Given the description of an element on the screen output the (x, y) to click on. 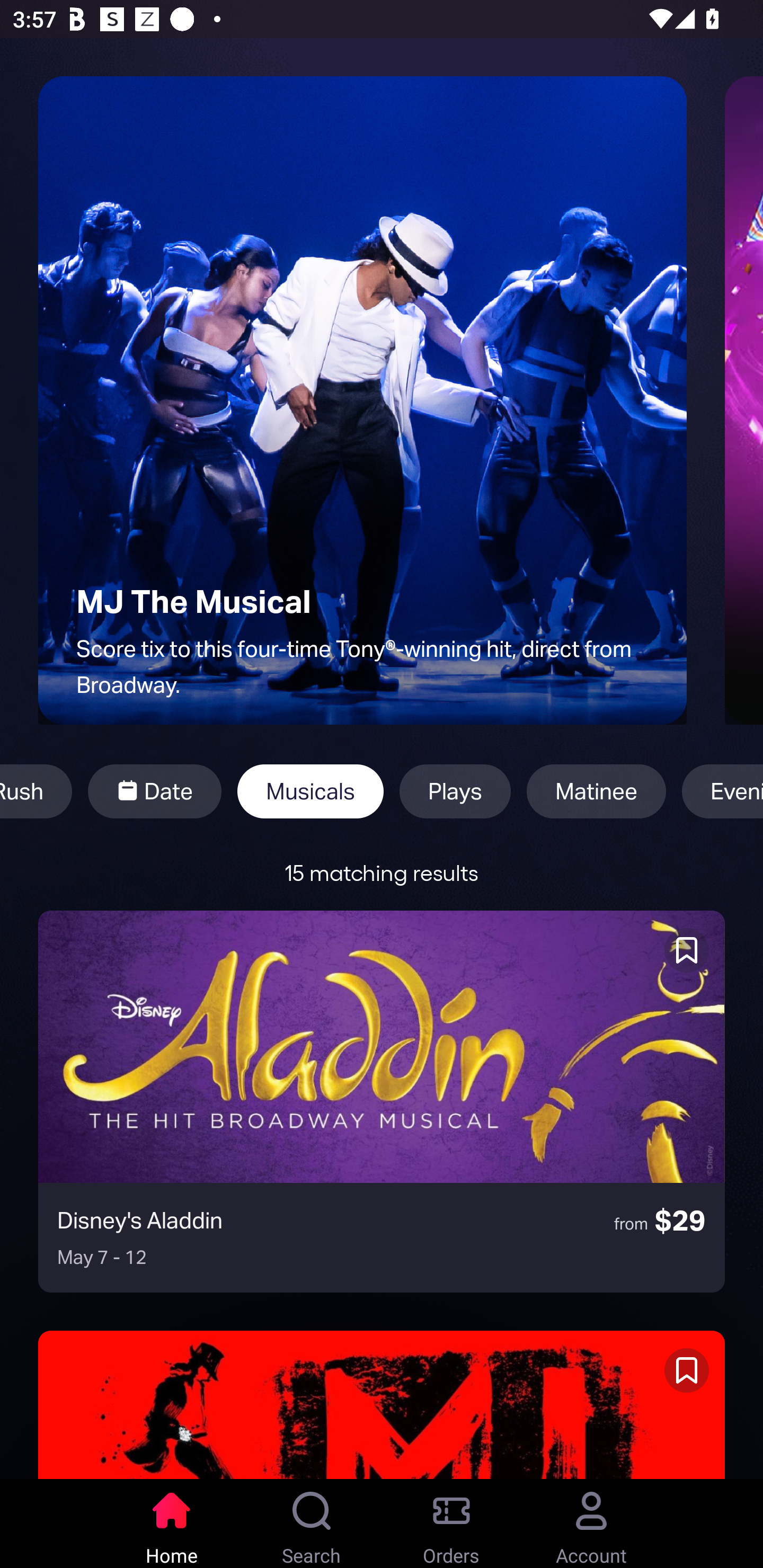
Date (154, 791)
Musicals (310, 791)
Plays (454, 791)
Matinee (596, 791)
Disney's Aladdin from $29 May 7 - 12 (381, 1101)
Search (311, 1523)
Orders (451, 1523)
Account (591, 1523)
